Given the description of an element on the screen output the (x, y) to click on. 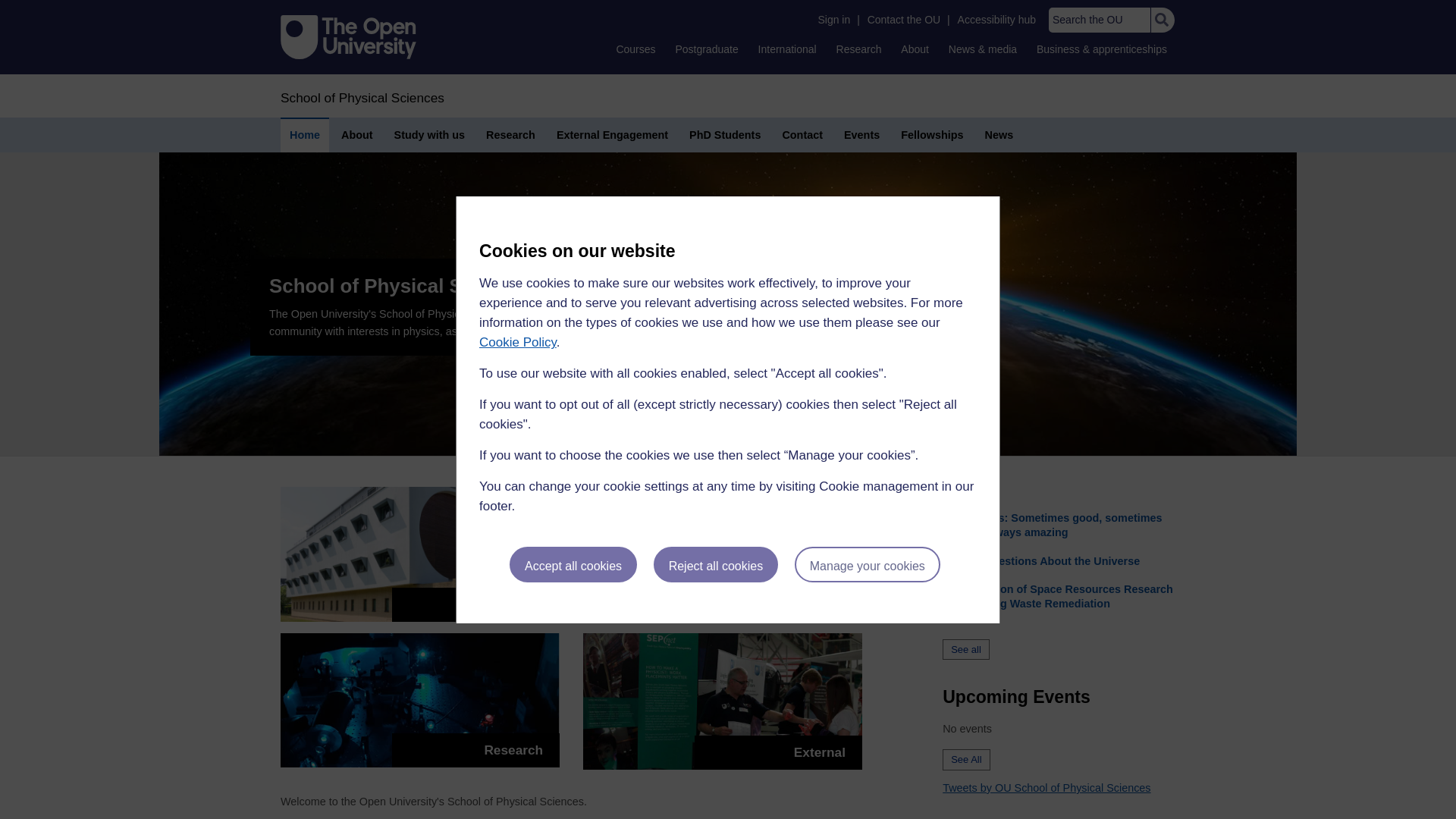
Postgraduate (705, 49)
Courses (635, 49)
Accessibility hub (997, 19)
Search (1161, 19)
International (787, 49)
About (914, 49)
The Open University (348, 36)
Contact the OU (903, 19)
Accept all cookies (573, 564)
Research (858, 49)
Reject all cookies (715, 564)
Manage your cookies (867, 564)
Sign in (833, 19)
Search (1161, 19)
